Given the description of an element on the screen output the (x, y) to click on. 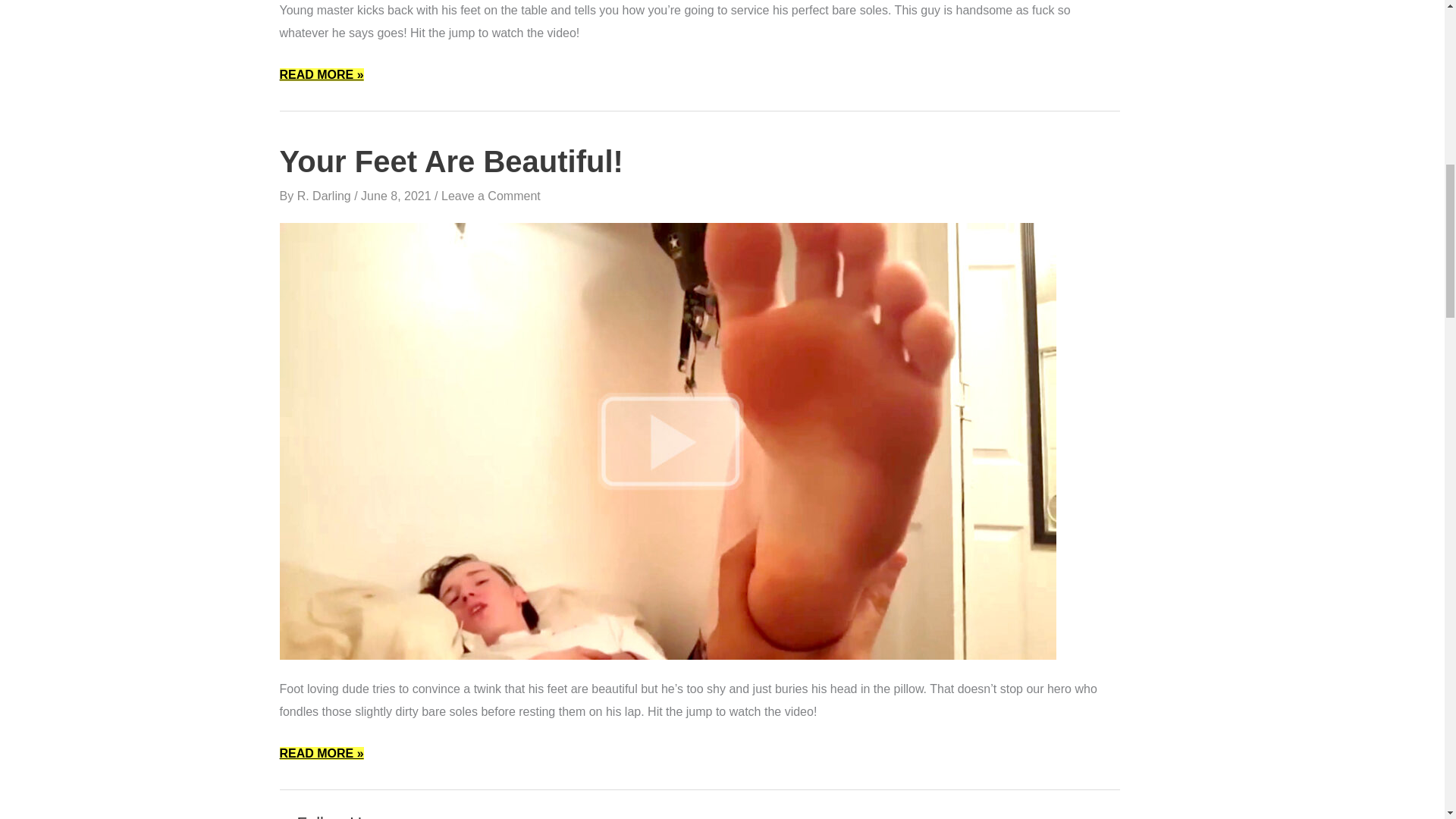
Your Feet Are Beautiful! (451, 161)
R. Darling (326, 195)
Your Feet Are Beautiful! (667, 440)
Leave a Comment (490, 195)
View all posts by R. Darling (326, 195)
